Given the description of an element on the screen output the (x, y) to click on. 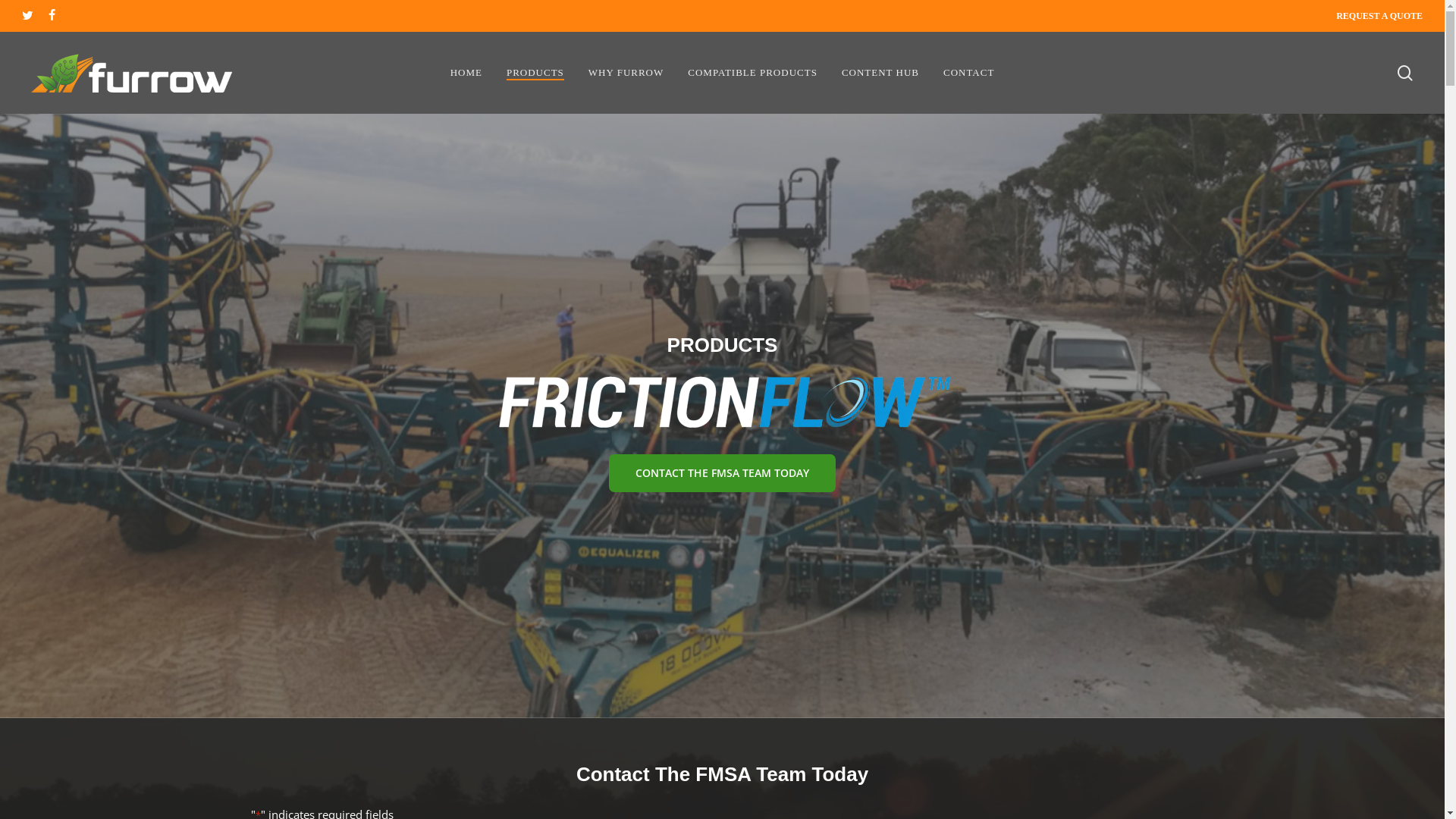
CONTACT Element type: text (968, 72)
WHY FURROW Element type: text (625, 72)
HOME Element type: text (466, 72)
CONTACT THE FMSA TEAM TODAY Element type: text (721, 472)
COMPATIBLE PRODUCTS Element type: text (752, 72)
FACEBOOK Element type: text (51, 15)
REQUEST A QUOTE Element type: text (1379, 15)
TWITTER Element type: text (27, 15)
PRODUCTS Element type: text (535, 72)
search Element type: text (1405, 73)
CONTENT HUB Element type: text (880, 72)
